Given the description of an element on the screen output the (x, y) to click on. 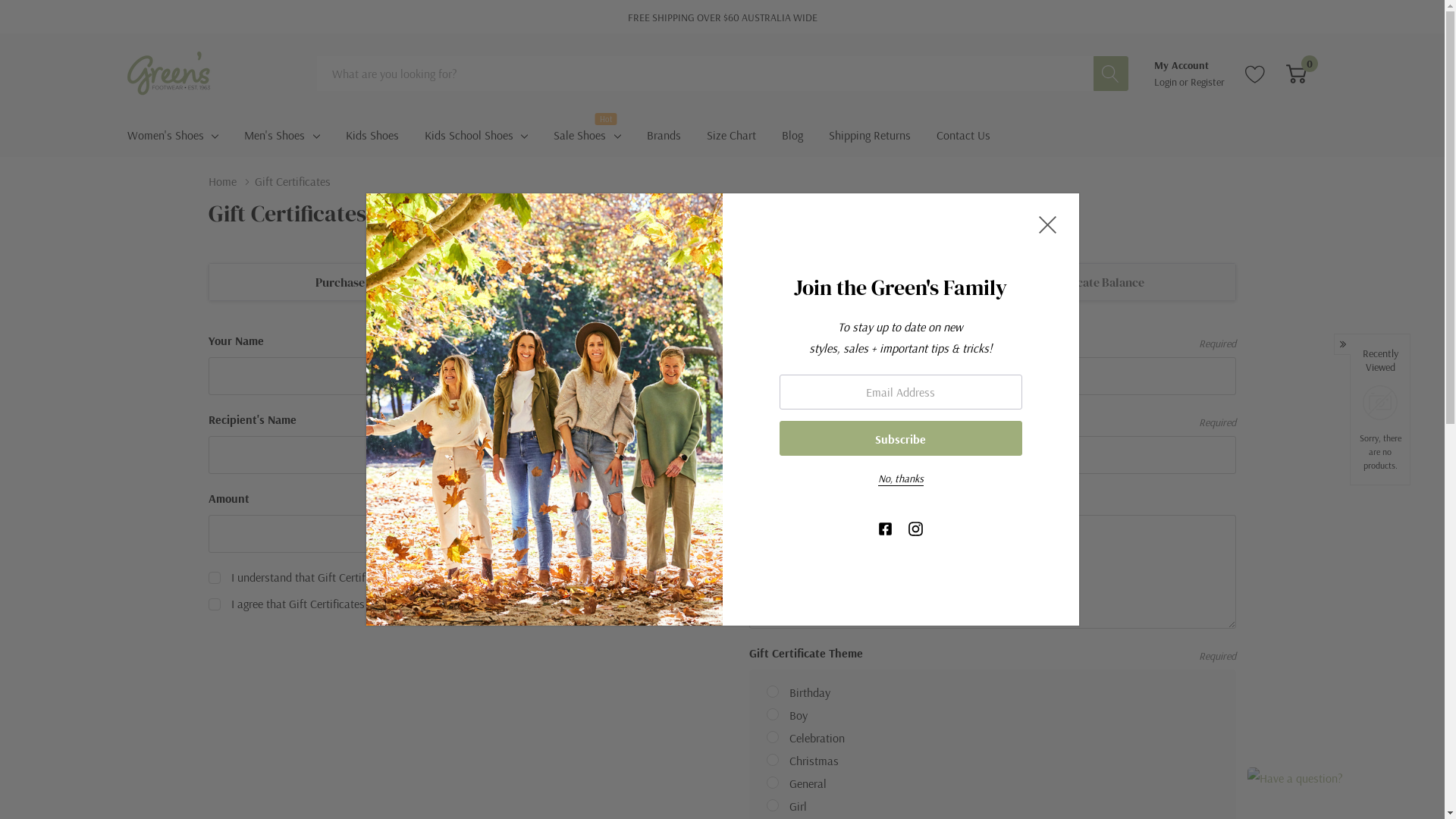
Size Chart Element type: text (730, 134)
Men'S Shoes Element type: text (274, 134)
Greens Footwear Pty Ltd Element type: hover (169, 72)
Login Element type: text (1166, 80)
Women'S Shoes Element type: text (165, 134)
FREE SHIPPING OVER $60 AUSTRALIA WIDE Element type: text (722, 17)
Join the Green's Family Element type: hover (543, 409)
Home Element type: text (231, 180)
Kids School Shoes Element type: text (468, 134)
Redeem Gift Certificate Element type: text (722, 281)
Sale Shoes
Hot Element type: text (579, 134)
Subscribe Element type: text (900, 437)
Shipping Returns Element type: text (869, 134)
Have a question? Element type: hover (1330, 777)
Blog Element type: text (791, 134)
0 Element type: text (1296, 73)
Contact Us Element type: text (963, 134)
Check Gift Certificate Balance Element type: text (1064, 281)
Register Element type: text (1207, 80)
Kids Shoes Element type: text (371, 134)
Brands Element type: text (663, 134)
